Given the description of an element on the screen output the (x, y) to click on. 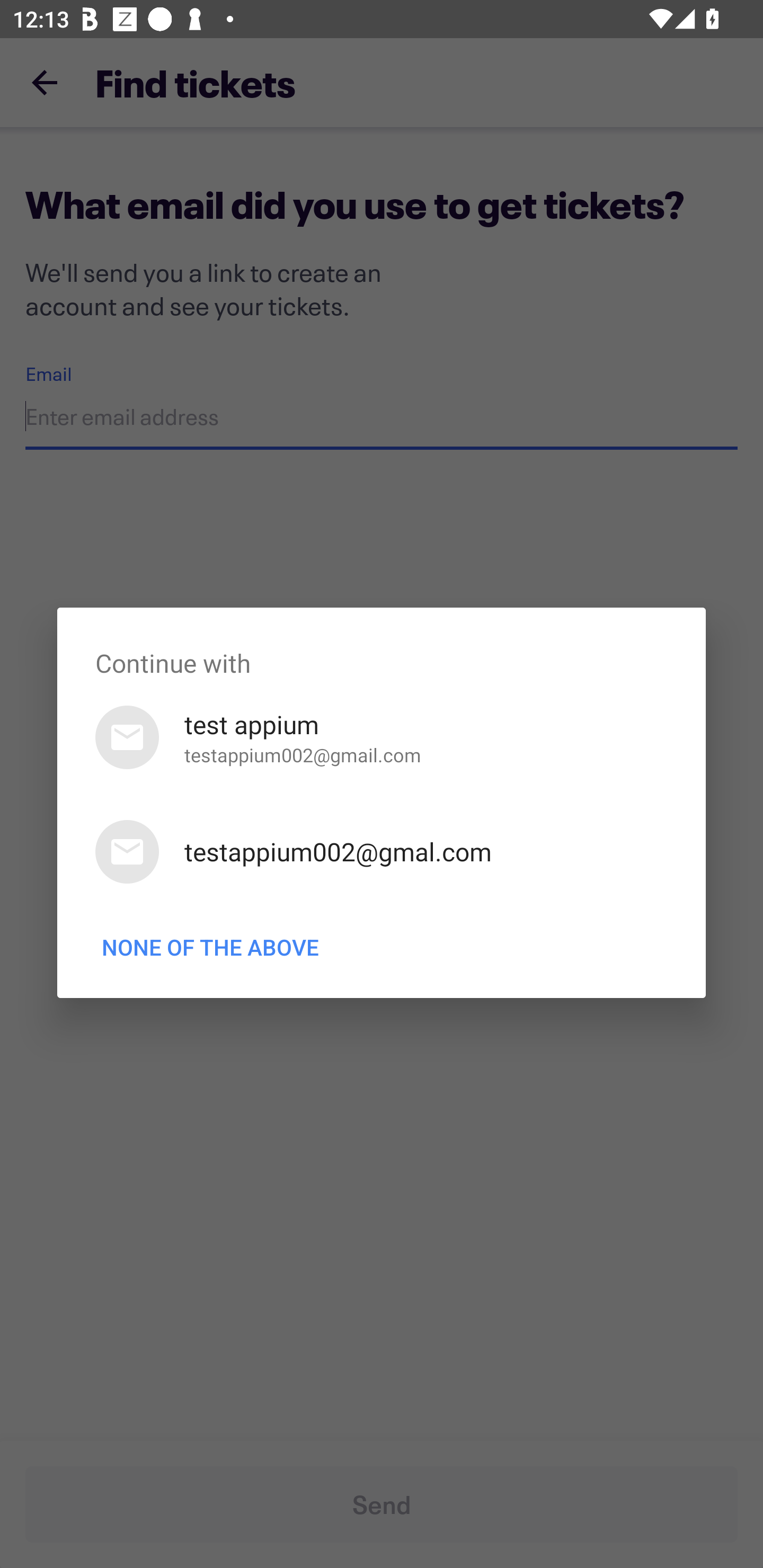
test appium test appium testappium002@gmail.com (381, 737)
testappium002@gmal.com (381, 851)
NONE OF THE ABOVE (210, 946)
